Given the description of an element on the screen output the (x, y) to click on. 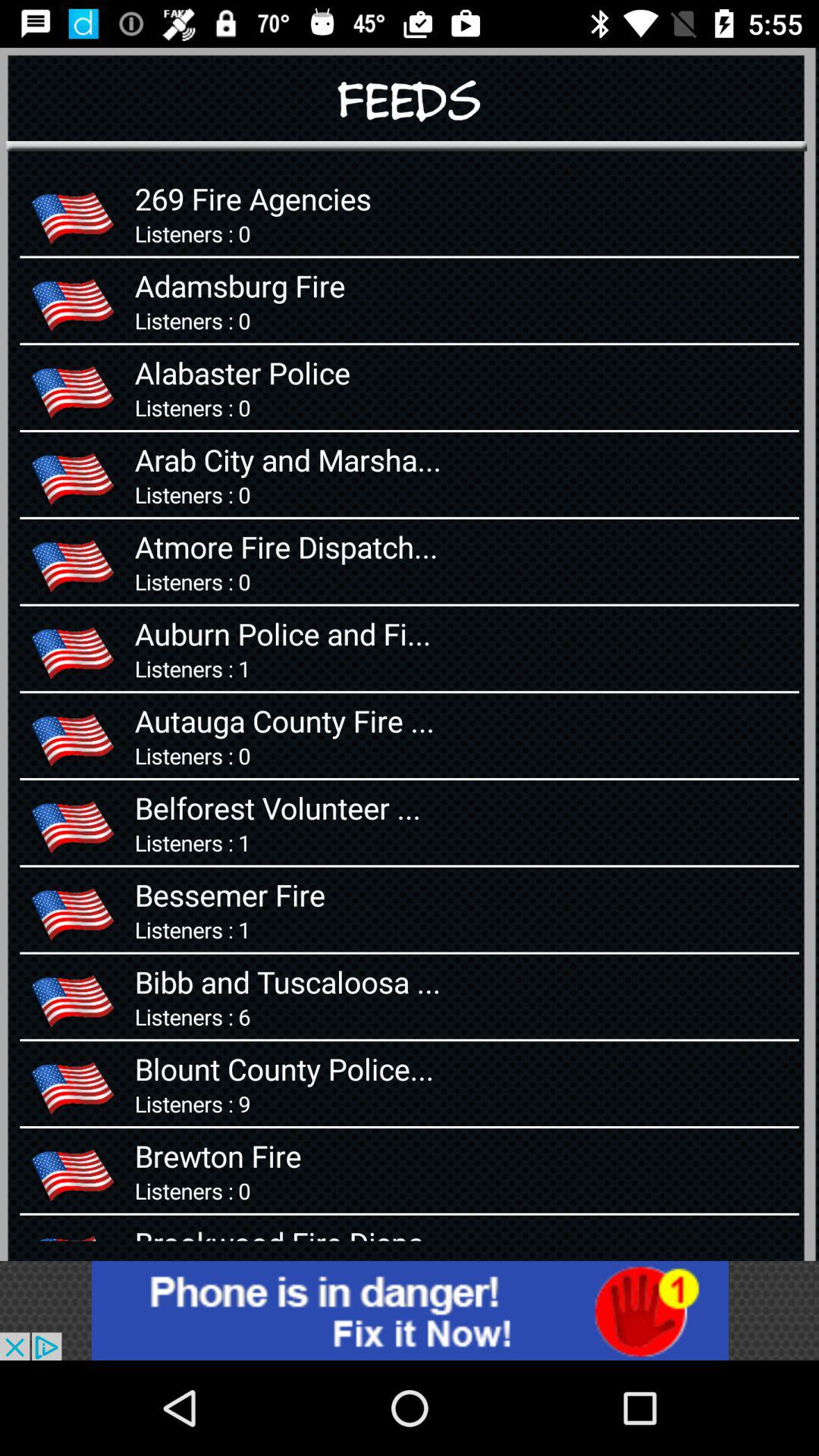
adversitment (409, 1310)
